Given the description of an element on the screen output the (x, y) to click on. 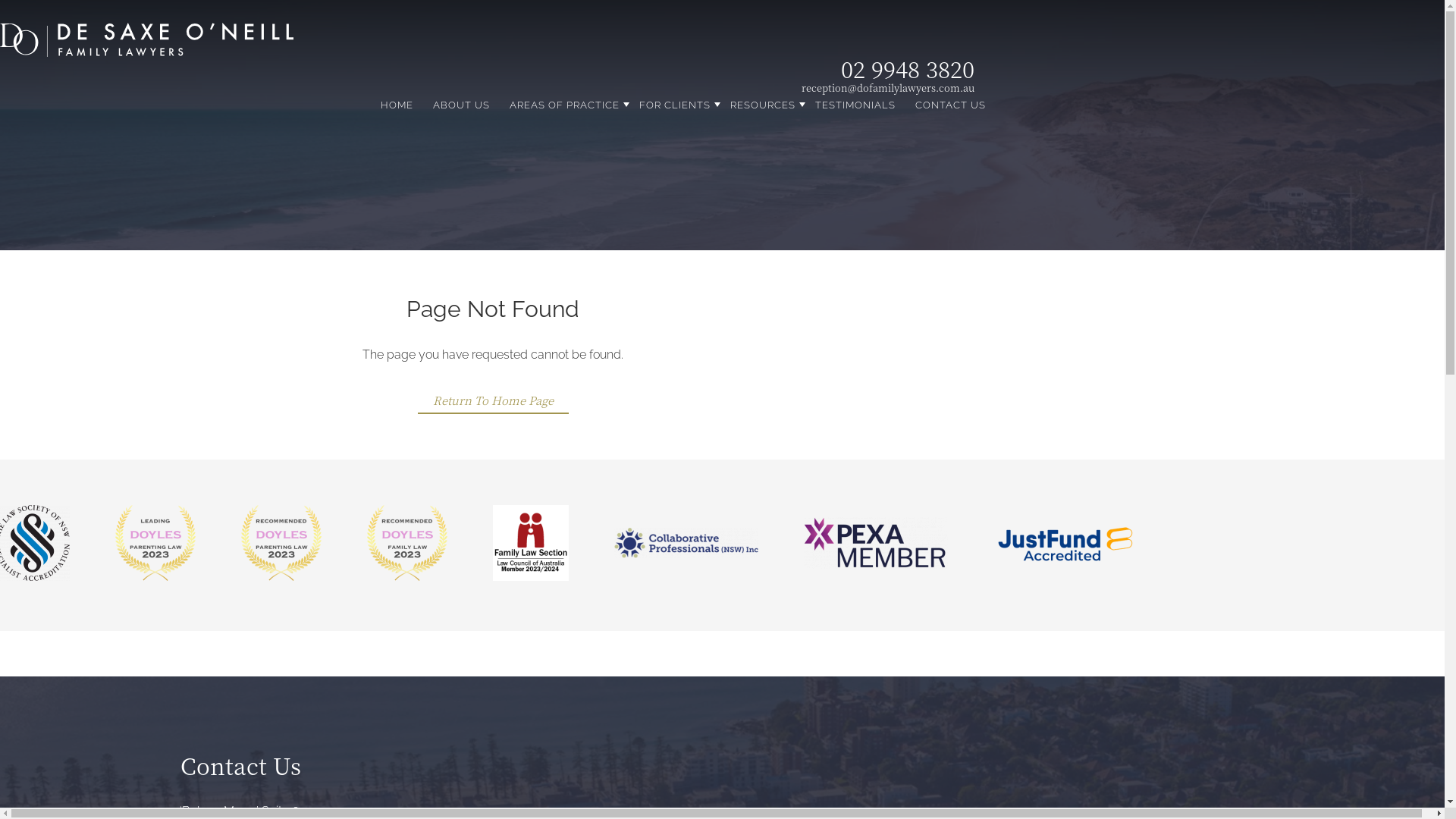
CONTACT US Element type: text (950, 104)
HOME Element type: text (396, 104)
ABOUT US Element type: text (461, 104)
FOR CLIENTS Element type: text (674, 104)
reception@dofamilylawyers.com.au Element type: text (887, 87)
TESTIMONIALS Element type: text (855, 104)
02 9948 3820 Element type: text (907, 67)
Return To Home Page Element type: text (492, 400)
AREAS OF PRACTICE Element type: text (564, 104)
RESOURCES Element type: text (762, 104)
